Given the description of an element on the screen output the (x, y) to click on. 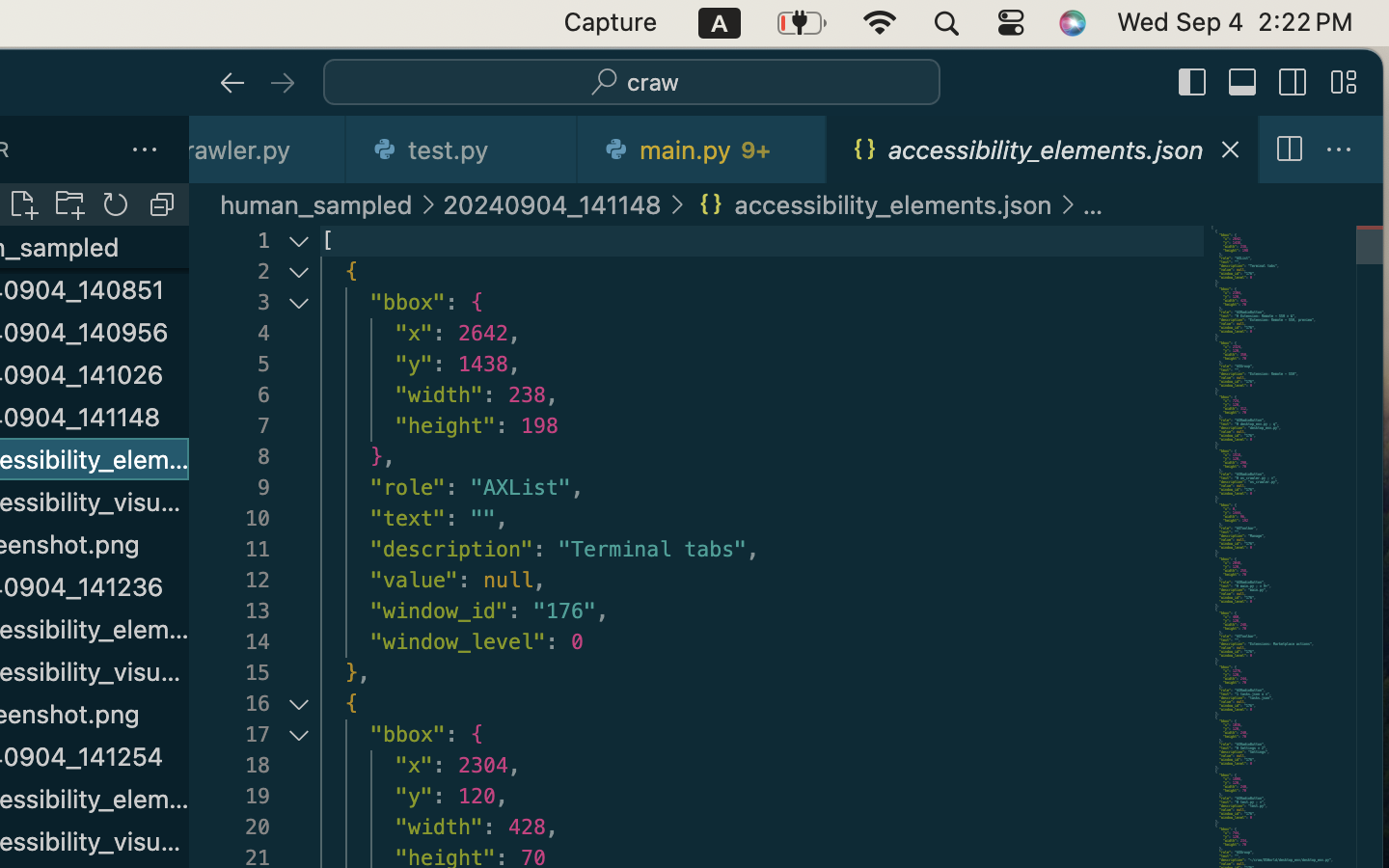
 Element type: AXButton (232, 82)
 Element type: AXCheckBox (1243, 82)
20240904_141148 Element type: AXGroup (552, 204)
